Given the description of an element on the screen output the (x, y) to click on. 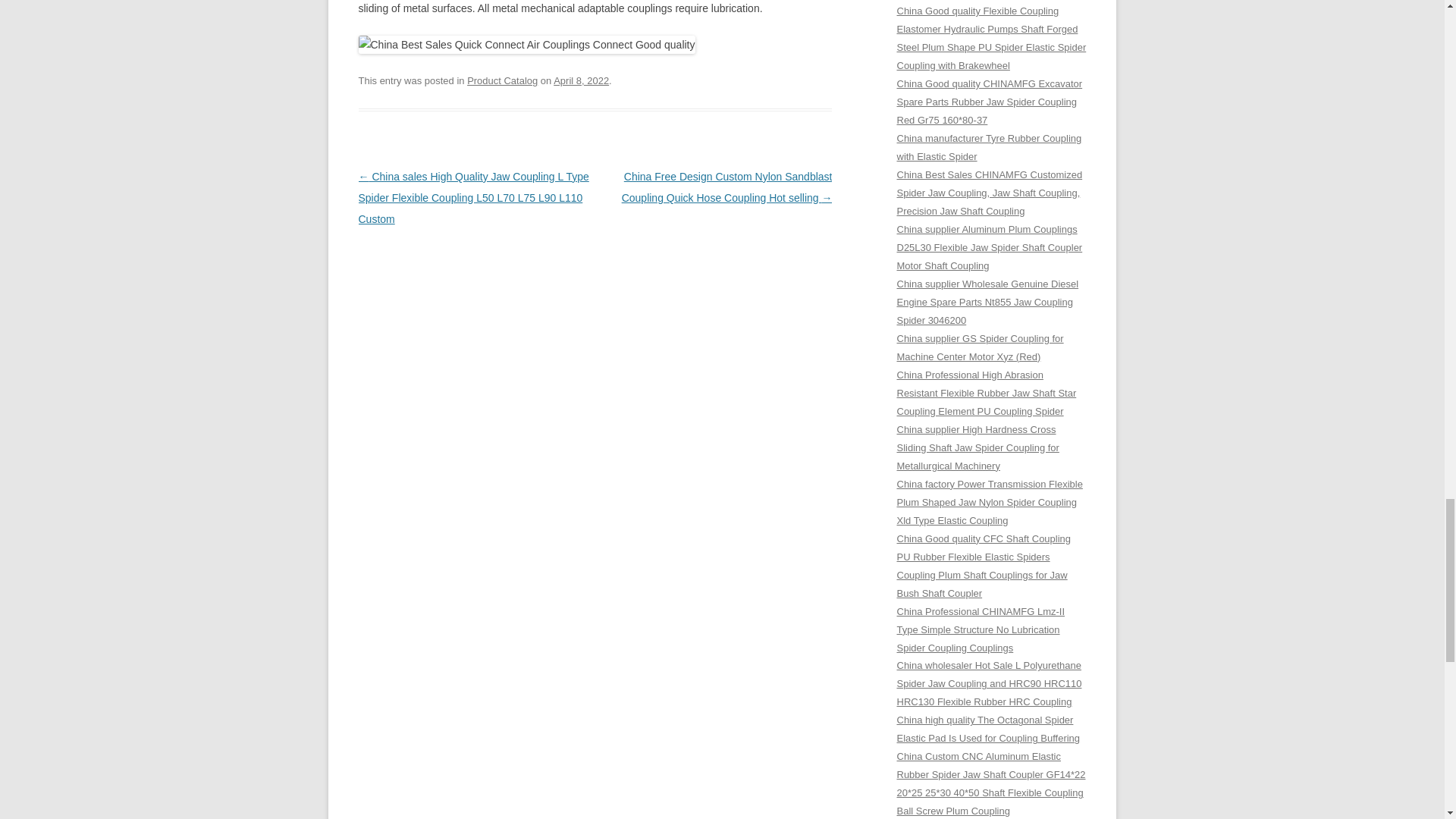
April 8, 2022 (580, 80)
5:44 pm (580, 80)
Product Catalog (502, 80)
